Given the description of an element on the screen output the (x, y) to click on. 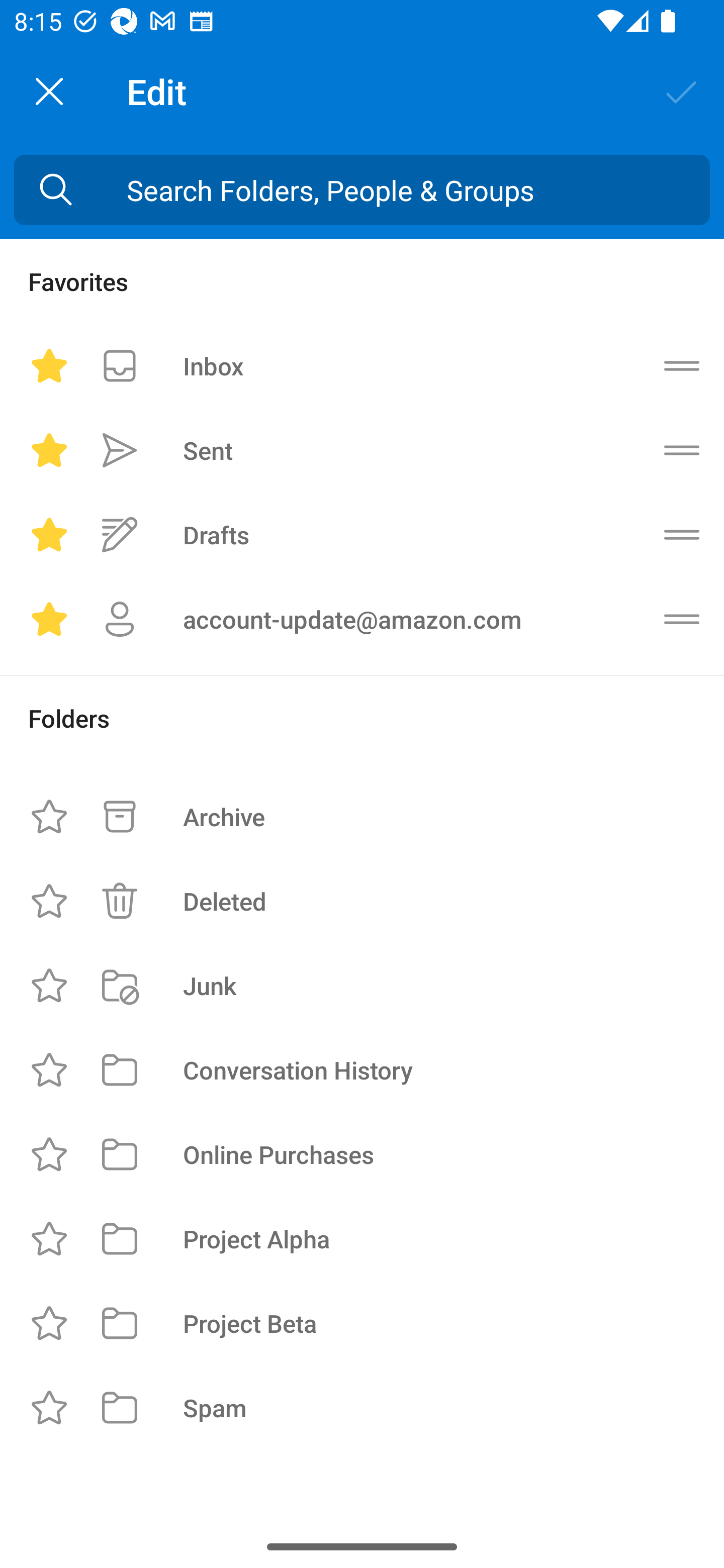
Cancel (49, 91)
Done (681, 90)
Search Folders, People & Groups (361, 190)
Remove Inbox from favorite (49, 365)
Reorder Inbox (681, 365)
Remove Sent from favorite (49, 449)
Reorder Sent (681, 449)
Remove Drafts from favorite (49, 534)
Reorder Drafts (681, 534)
Remove account-update@amazon.com from favorite (49, 619)
Reorder account-update@amazon.com (681, 619)
Add Archive to favorite (49, 816)
Add Deleted to favorite (49, 901)
Add Junk to favorite (49, 985)
Add Conversation History to favorite (49, 1069)
Add Online Purchases to favorite (49, 1153)
Add Project Alpha to favorite (49, 1238)
Add Project Beta to favorite (49, 1323)
Add Spam to favorite (49, 1407)
